Given the description of an element on the screen output the (x, y) to click on. 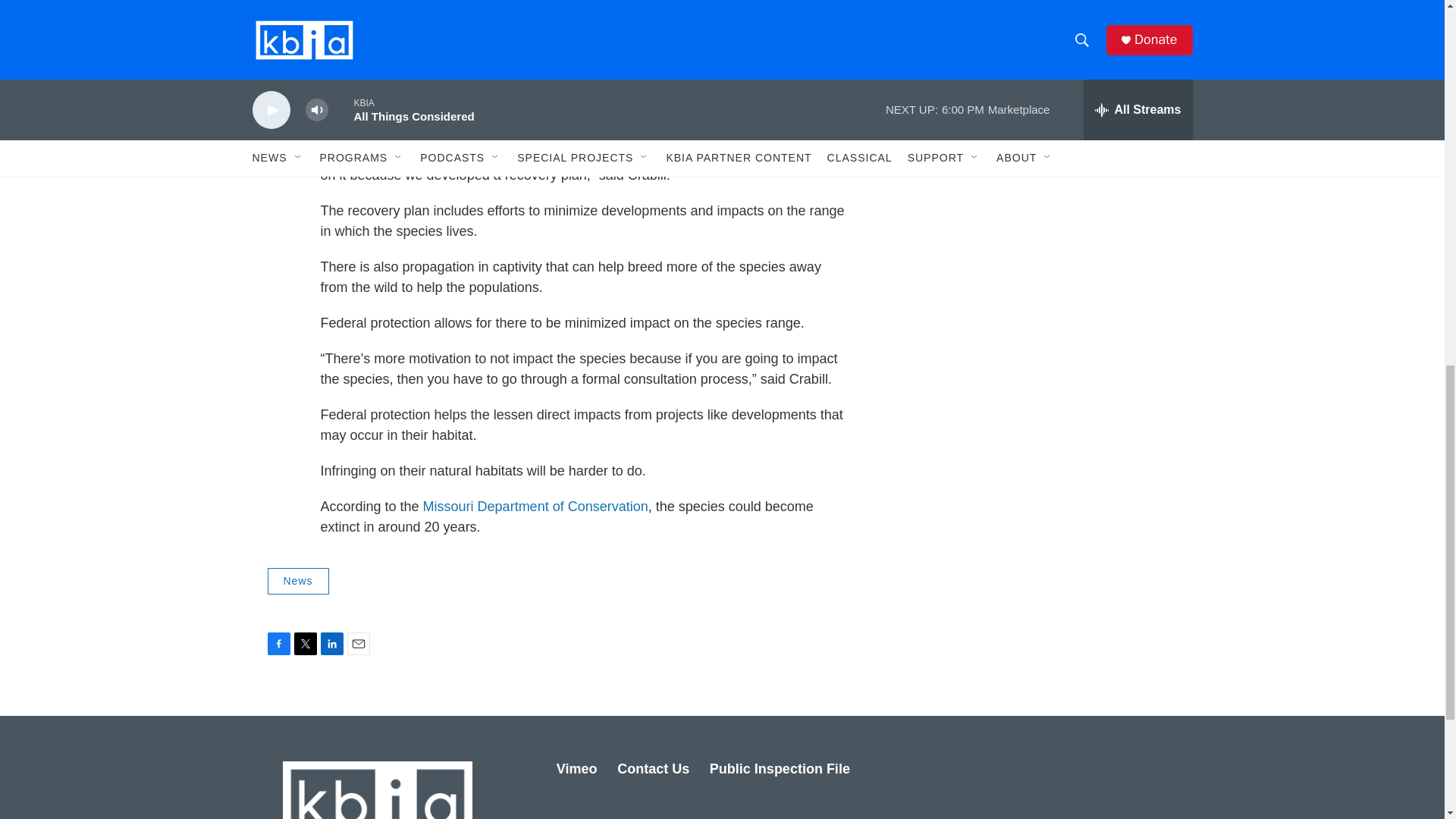
3rd party ad content (1062, 16)
